Given the description of an element on the screen output the (x, y) to click on. 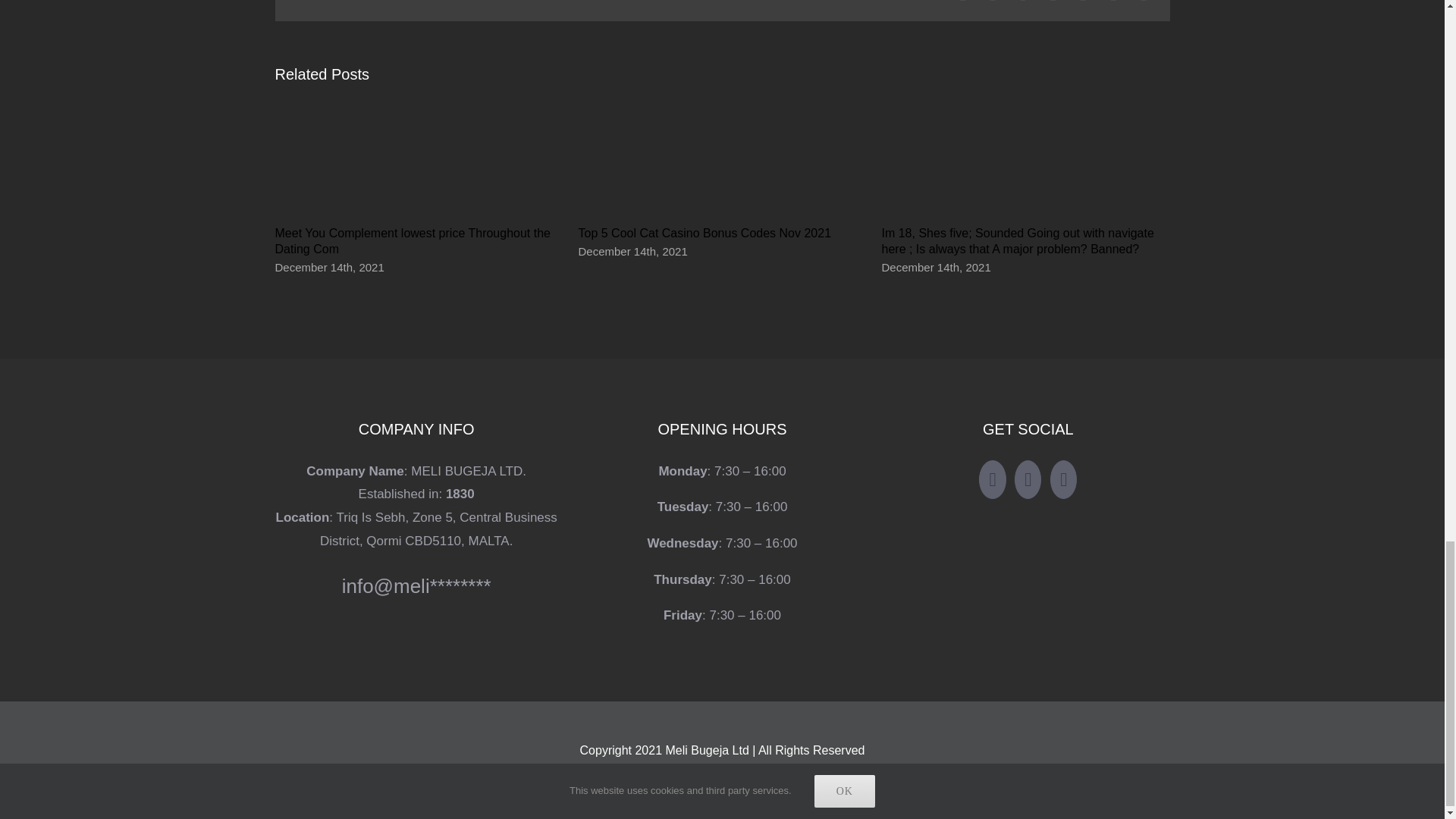
Top 5 Cool Cat Casino Bonus Codes Nov 2021 (704, 232)
Meet You Complement lowest price Throughout the Dating Com (412, 241)
